Given the description of an element on the screen output the (x, y) to click on. 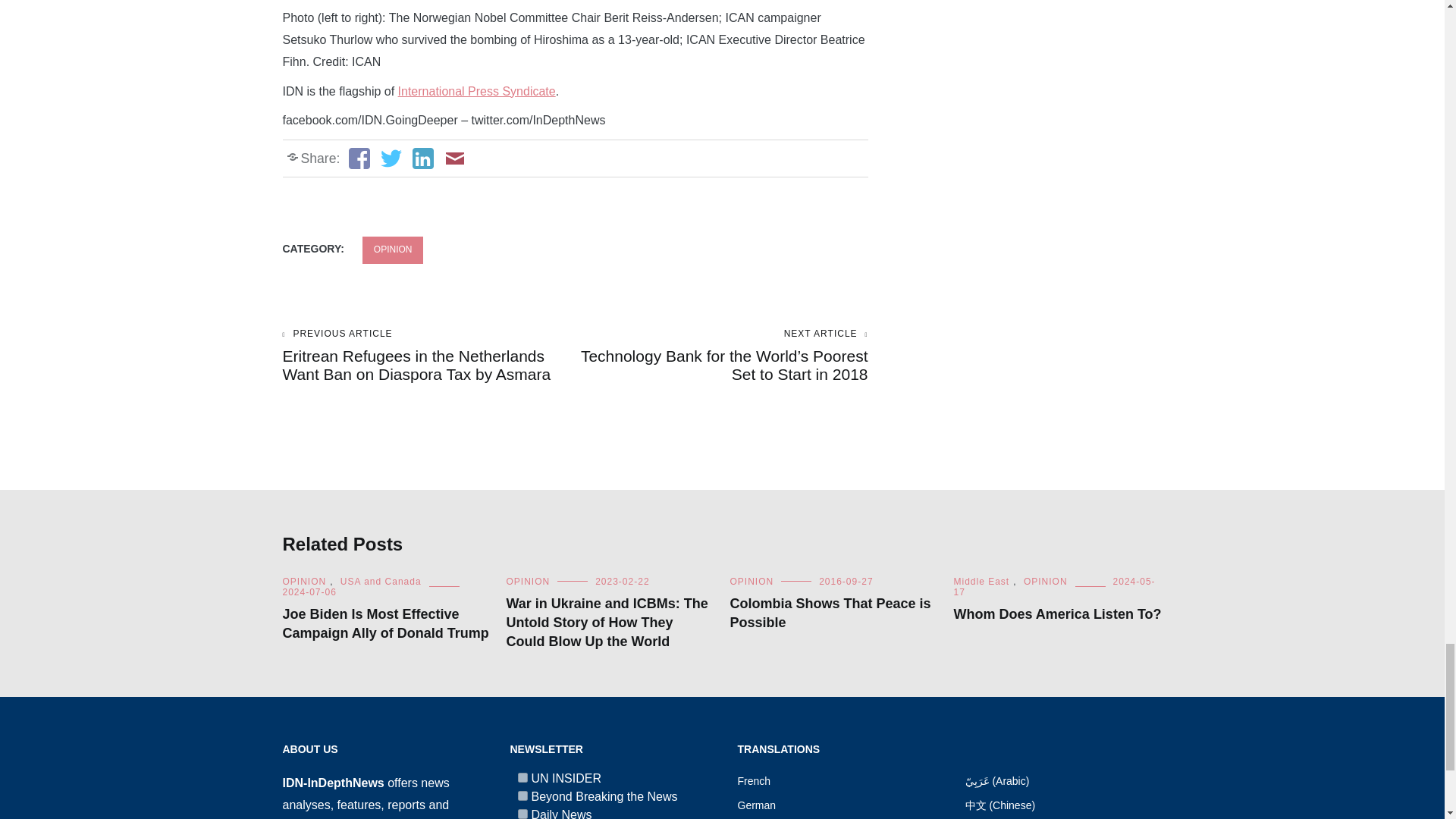
9 (521, 795)
10 (521, 814)
7 (521, 777)
